Given the description of an element on the screen output the (x, y) to click on. 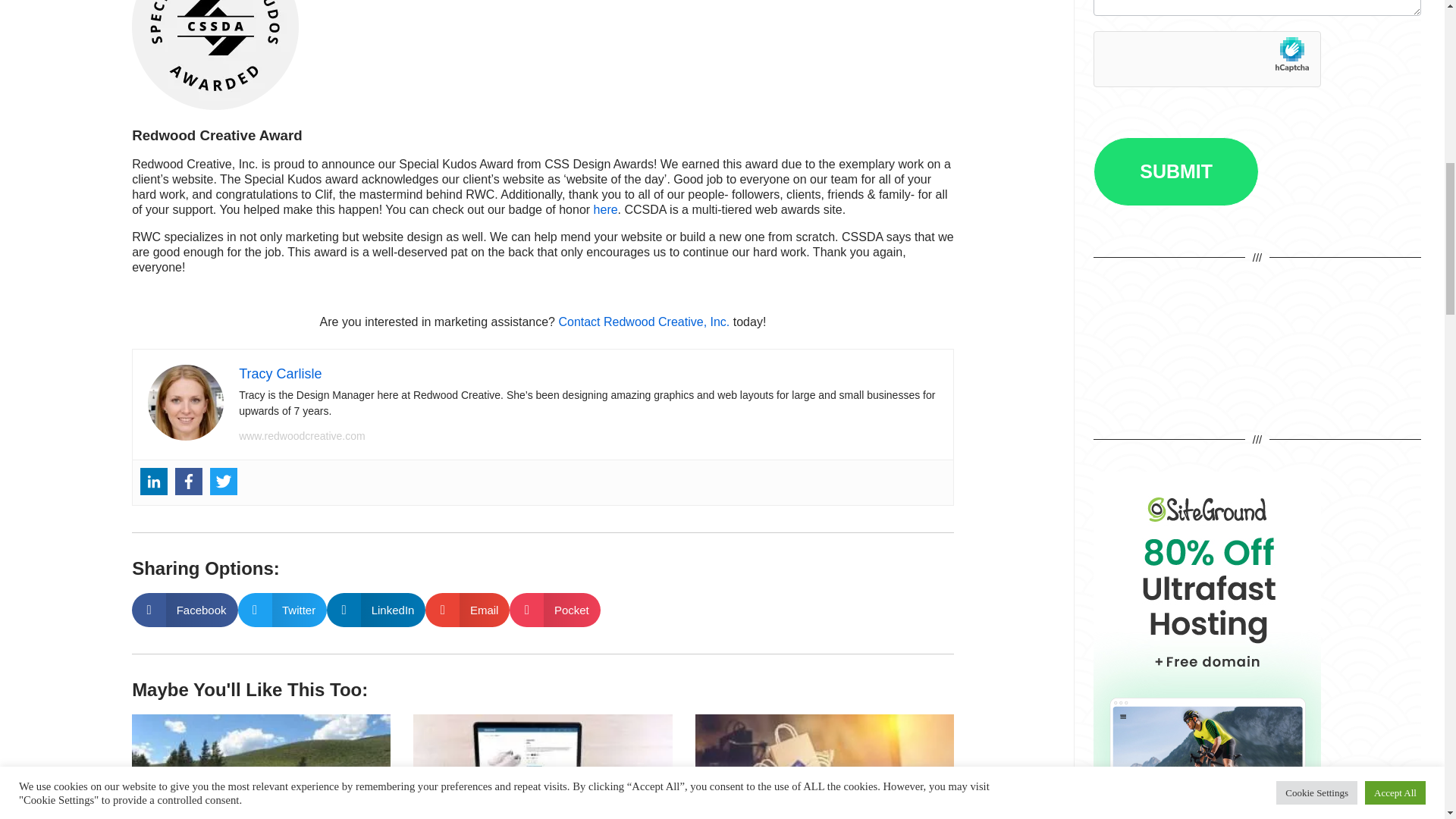
Twitter (223, 481)
Widget containing checkbox for hCaptcha security challenge (1208, 60)
Facebook (188, 481)
Linkedin (153, 481)
